Given the description of an element on the screen output the (x, y) to click on. 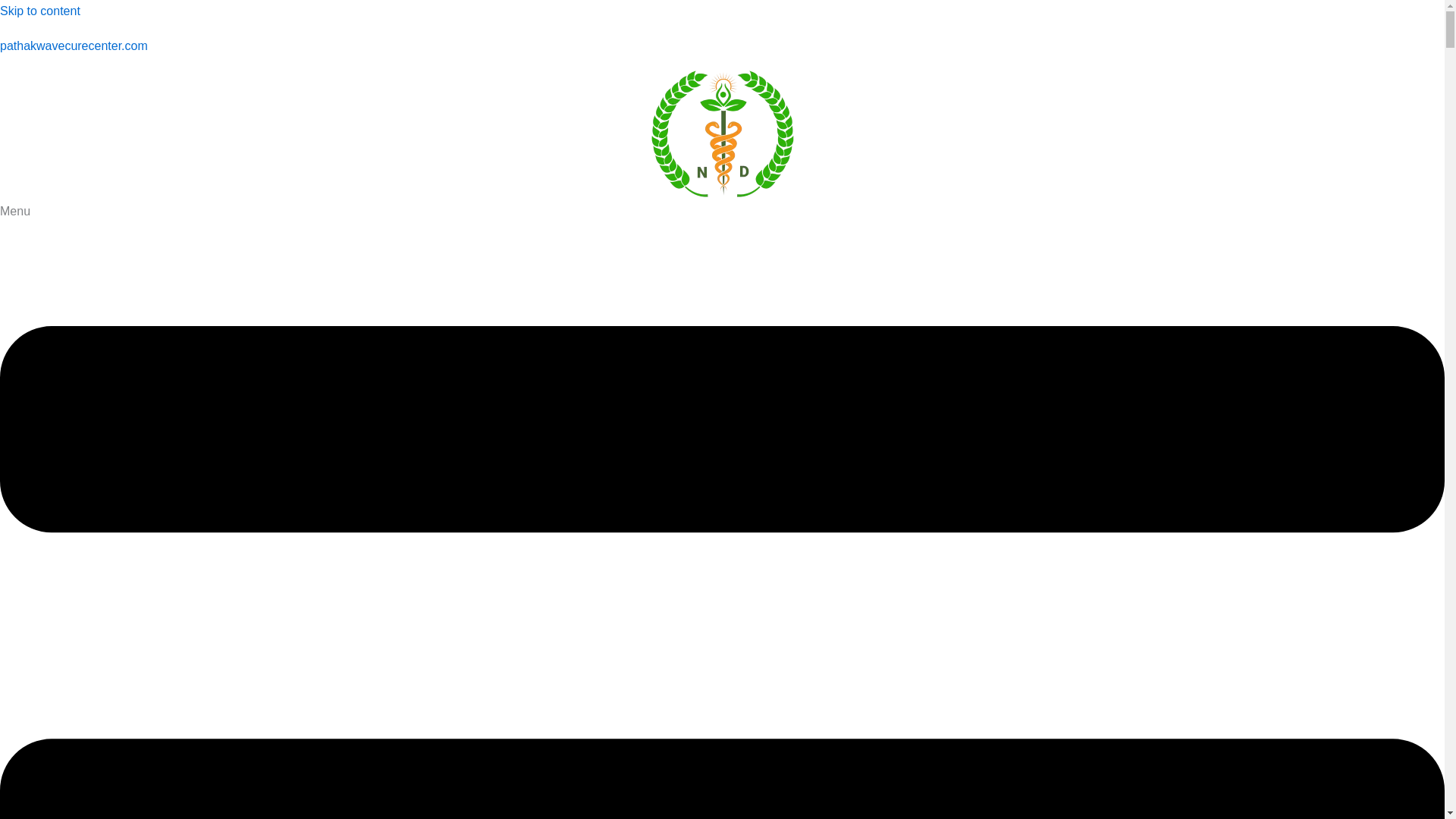
Skip to content (40, 10)
Skip to content (40, 10)
pathakwavecurecenter.com (74, 45)
pathakwavecurecenter.com (74, 45)
